Given the description of an element on the screen output the (x, y) to click on. 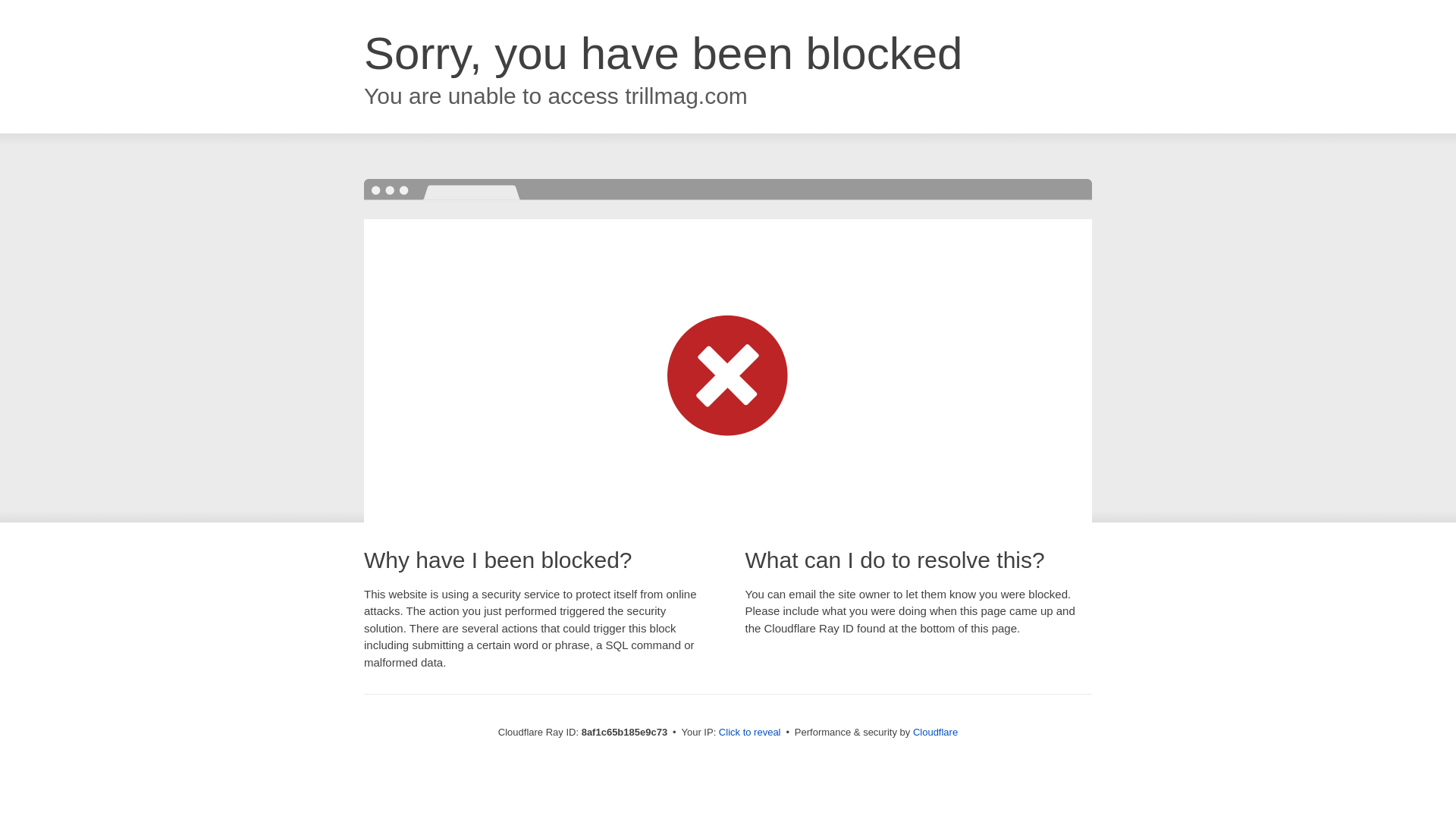
Cloudflare (935, 731)
Click to reveal (749, 732)
